Given the description of an element on the screen output the (x, y) to click on. 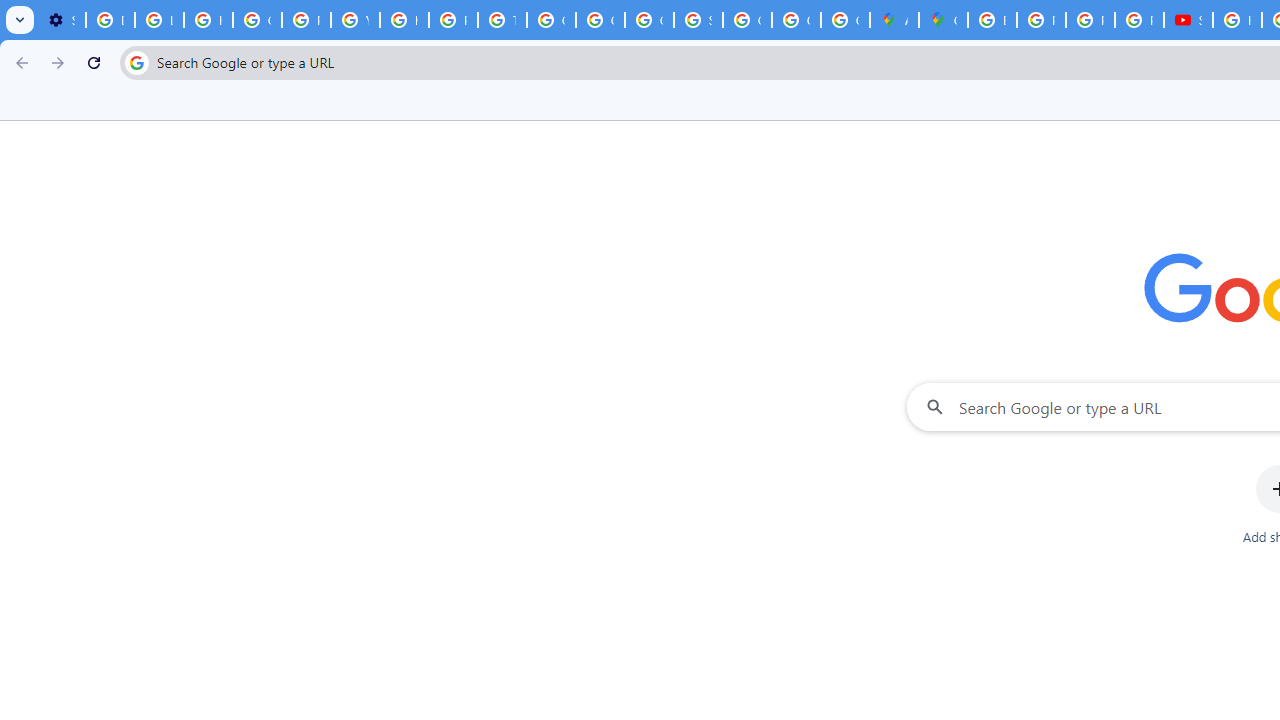
Search icon (136, 62)
Privacy Help Center - Policies Help (1090, 20)
YouTube (355, 20)
Privacy Help Center - Policies Help (452, 20)
Privacy Help Center - Policies Help (1041, 20)
Learn how to find your photos - Google Photos Help (159, 20)
Google Maps (943, 20)
Privacy Help Center - Policies Help (306, 20)
Sign in - Google Accounts (698, 20)
Subscriptions - YouTube (1188, 20)
https://scholar.google.com/ (404, 20)
Delete photos & videos - Computer - Google Photos Help (109, 20)
